Given the description of an element on the screen output the (x, y) to click on. 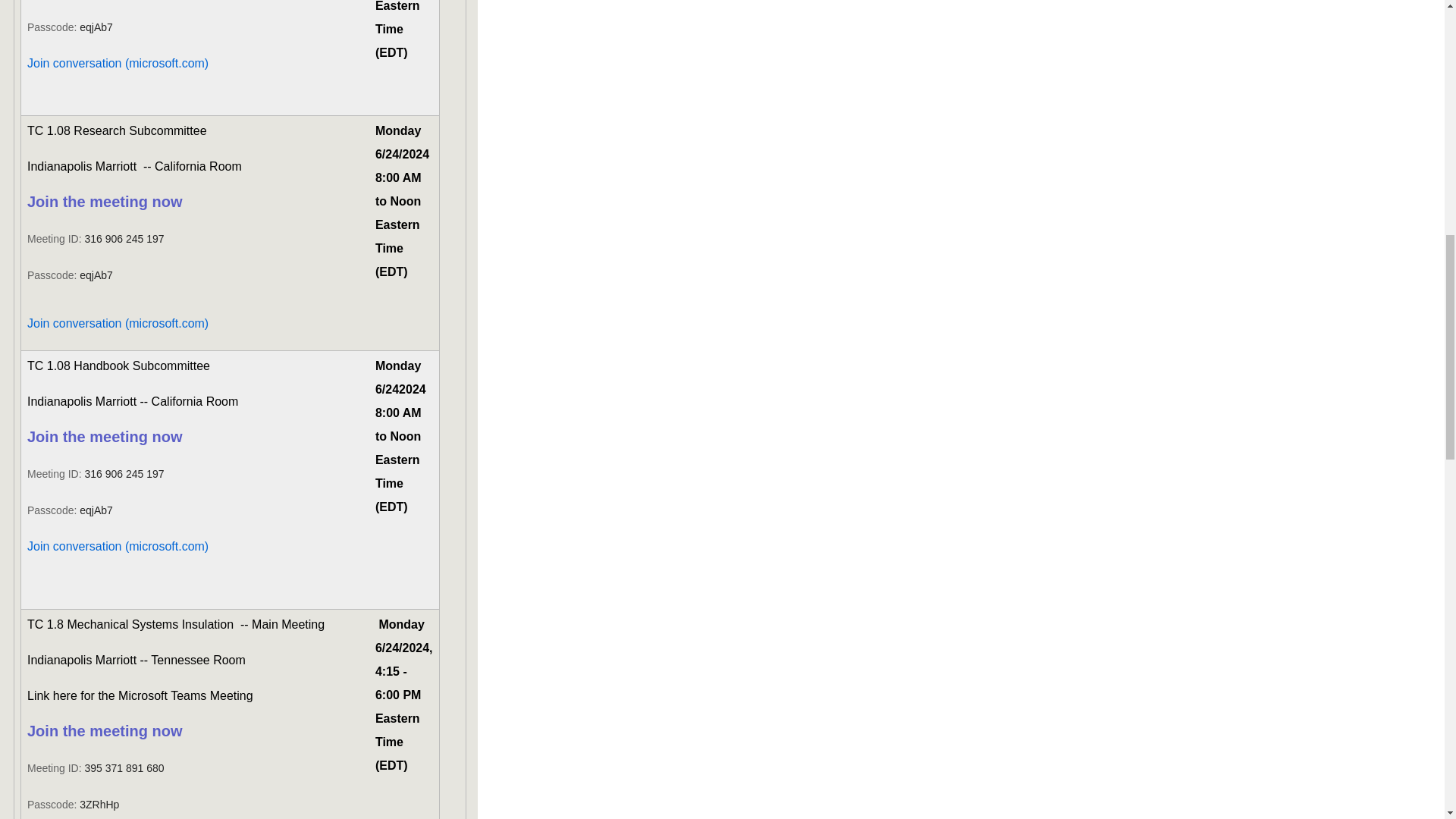
Meeting join link (104, 202)
Join the meeting now (104, 731)
Join the meeting now (104, 437)
Join the meeting now (104, 202)
Meeting join link (104, 437)
Meeting join link (104, 731)
